Given the description of an element on the screen output the (x, y) to click on. 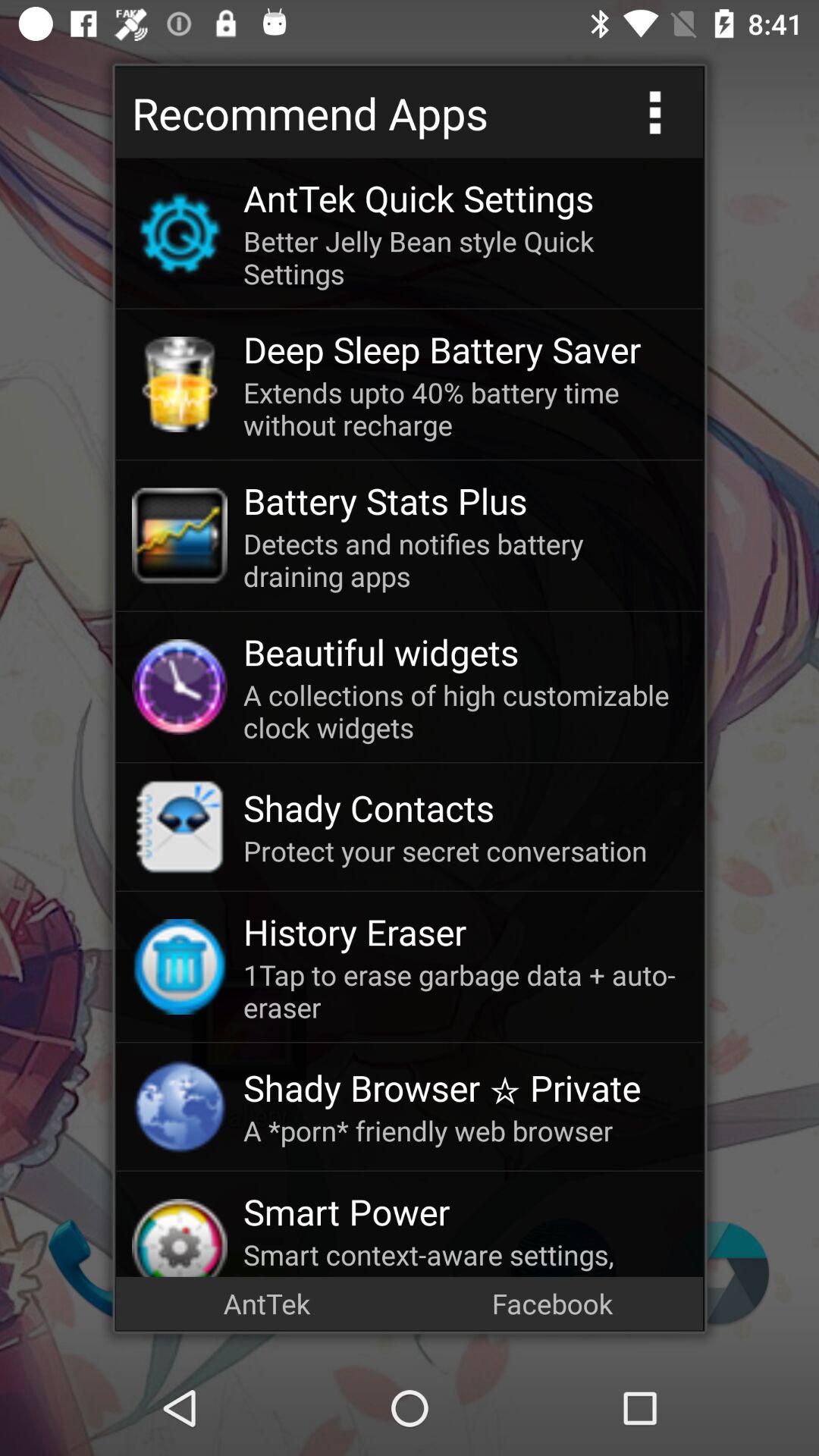
select item above the protect your secret icon (465, 807)
